Given the description of an element on the screen output the (x, y) to click on. 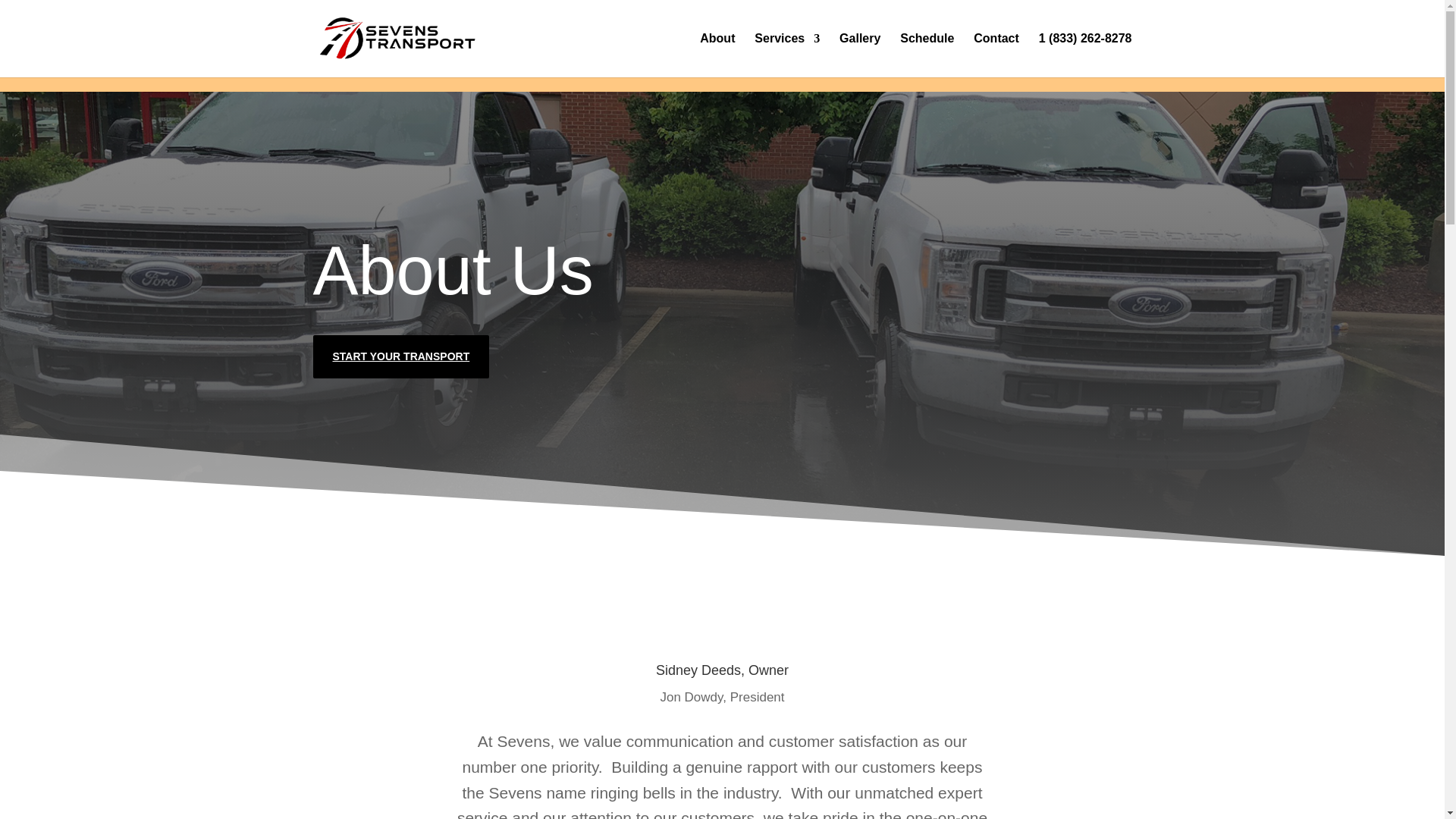
Contact (996, 54)
Services (786, 54)
Gallery (860, 54)
START YOUR TRANSPORT (401, 355)
Schedule (926, 54)
